Given the description of an element on the screen output the (x, y) to click on. 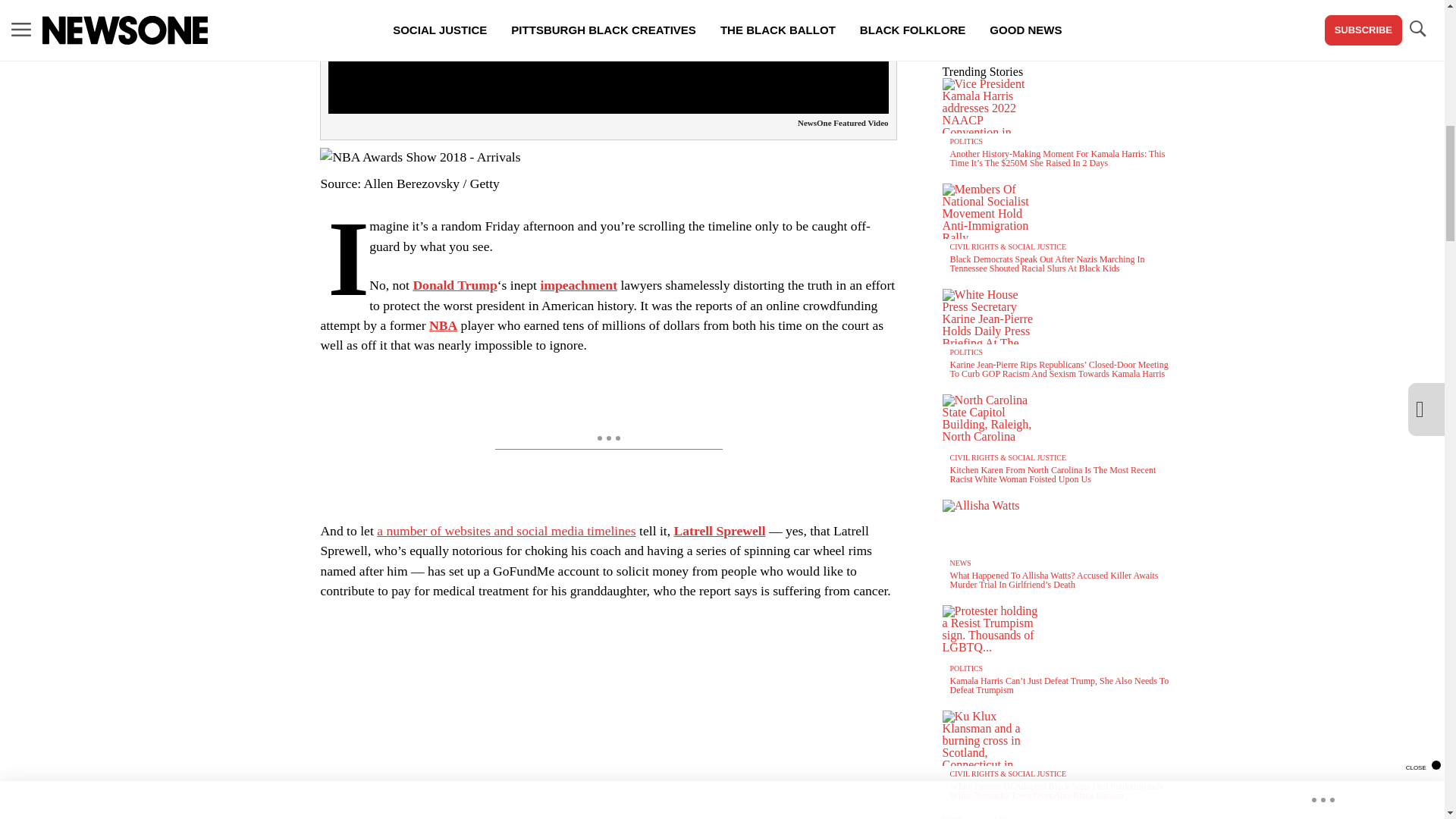
NBA (443, 324)
impeachment (578, 284)
Donald Trump (454, 284)
a number of websites and social media timelines (506, 530)
Latrell Sprewell (719, 530)
